Given the description of an element on the screen output the (x, y) to click on. 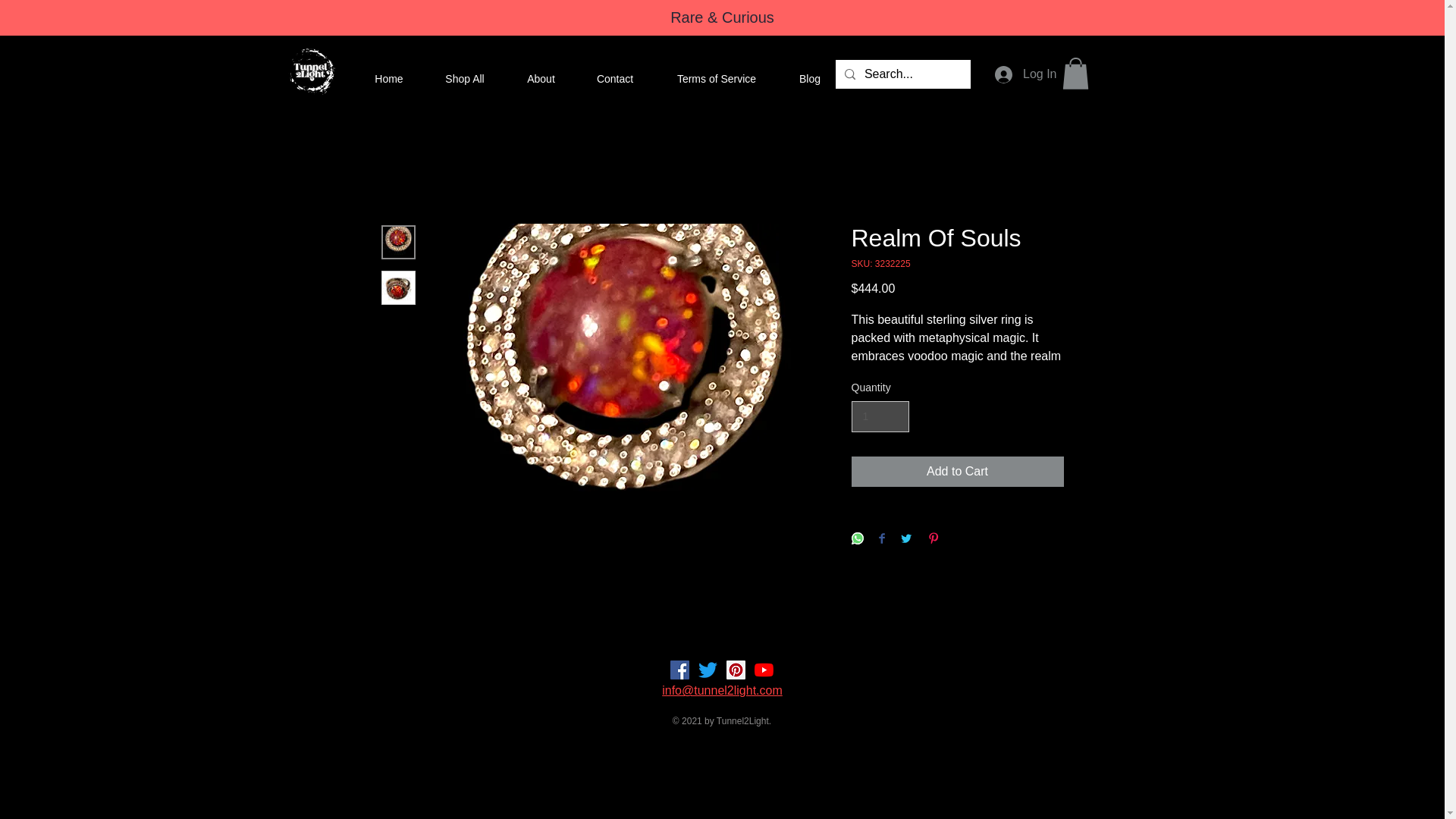
Contact (614, 78)
1 (879, 416)
Blog (809, 78)
Shop All (464, 78)
Terms of Service (715, 78)
Log In (1025, 73)
Add to Cart (956, 471)
About (541, 78)
Home (389, 78)
